Given the description of an element on the screen output the (x, y) to click on. 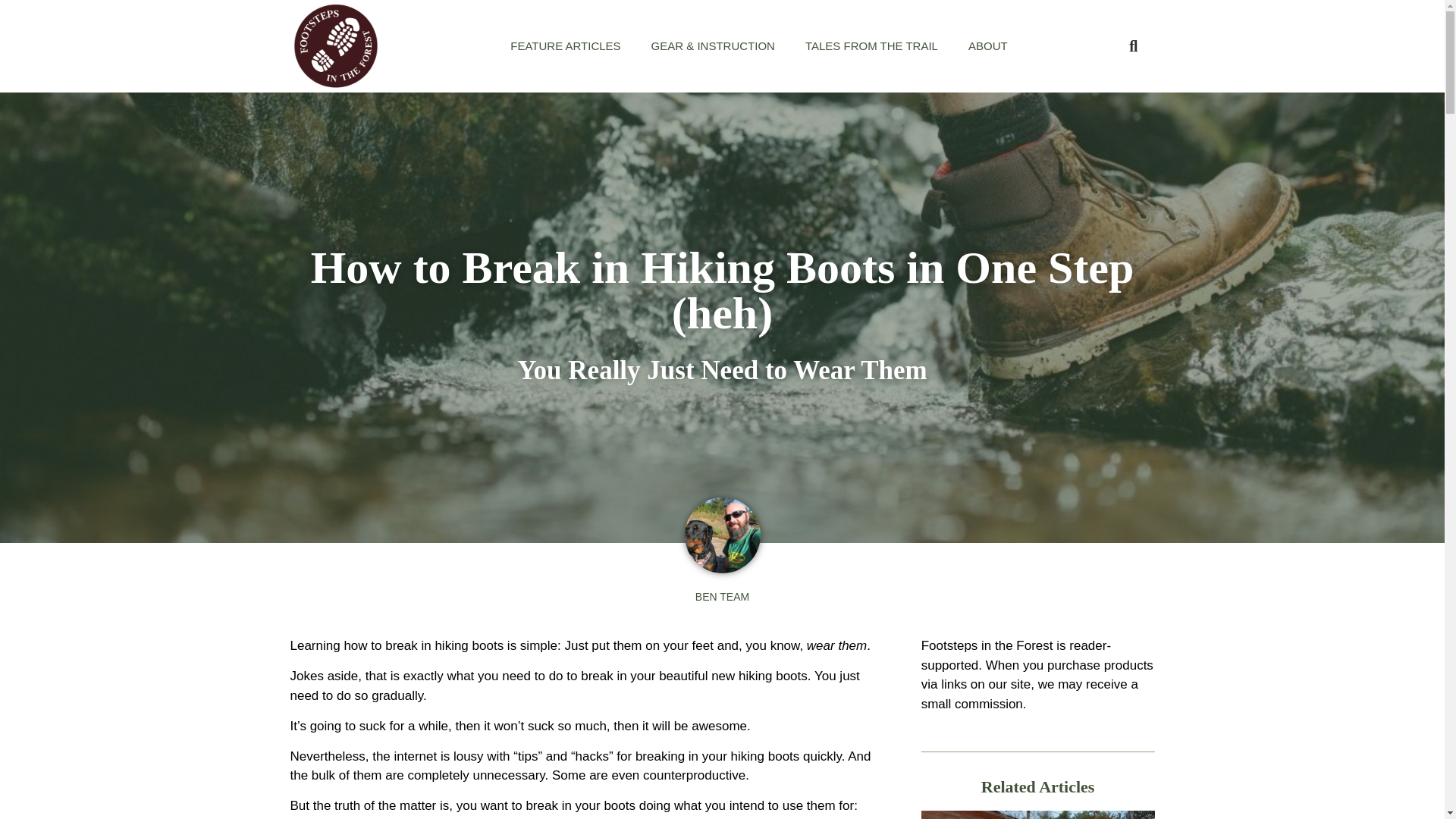
BEN TEAM (722, 596)
TALES FROM THE TRAIL (871, 45)
ABOUT (988, 45)
FEATURE ARTICLES (564, 45)
